Given the description of an element on the screen output the (x, y) to click on. 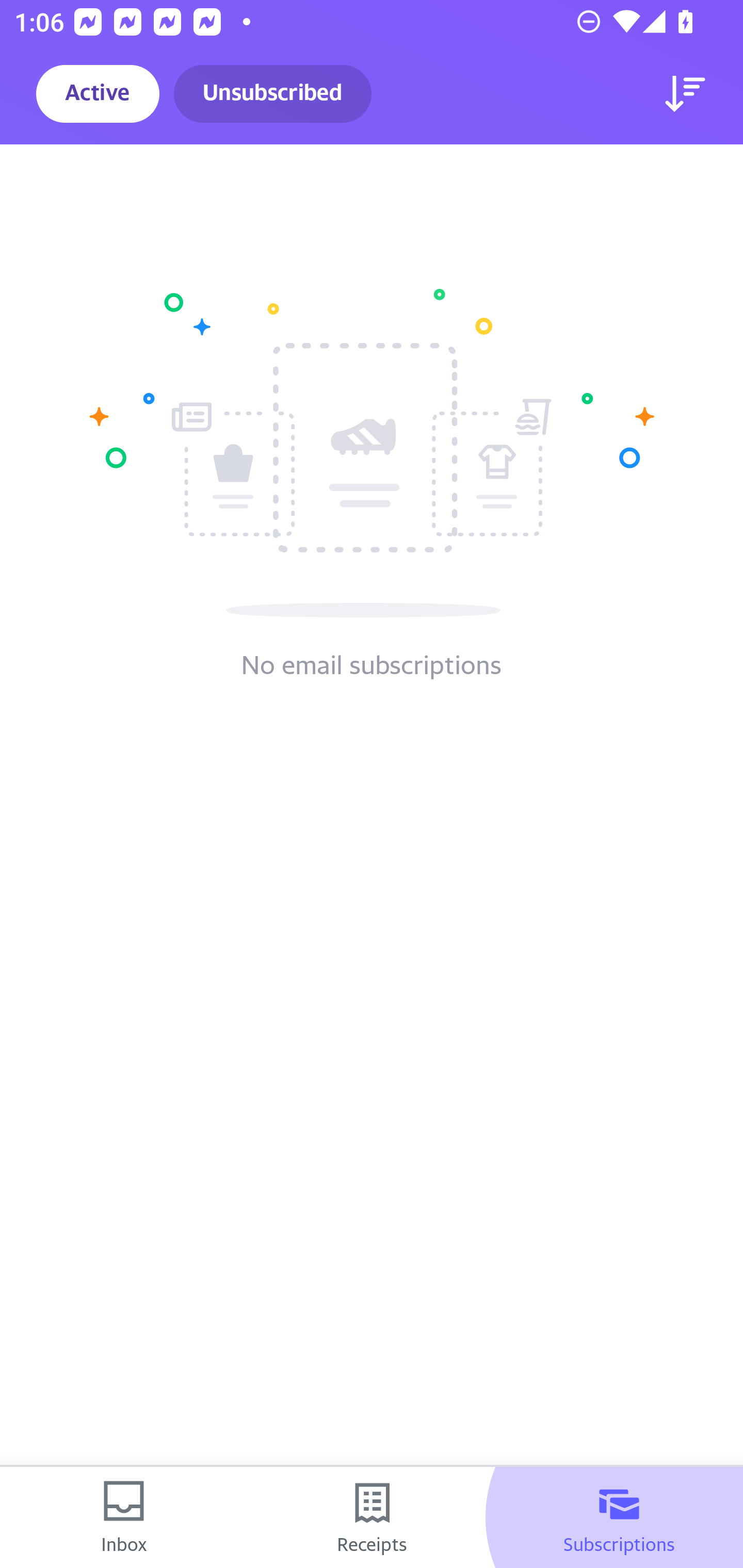
Unsubscribed (272, 93)
Sort (684, 93)
Inbox (123, 1517)
Receipts (371, 1517)
Subscriptions (619, 1517)
